Given the description of an element on the screen output the (x, y) to click on. 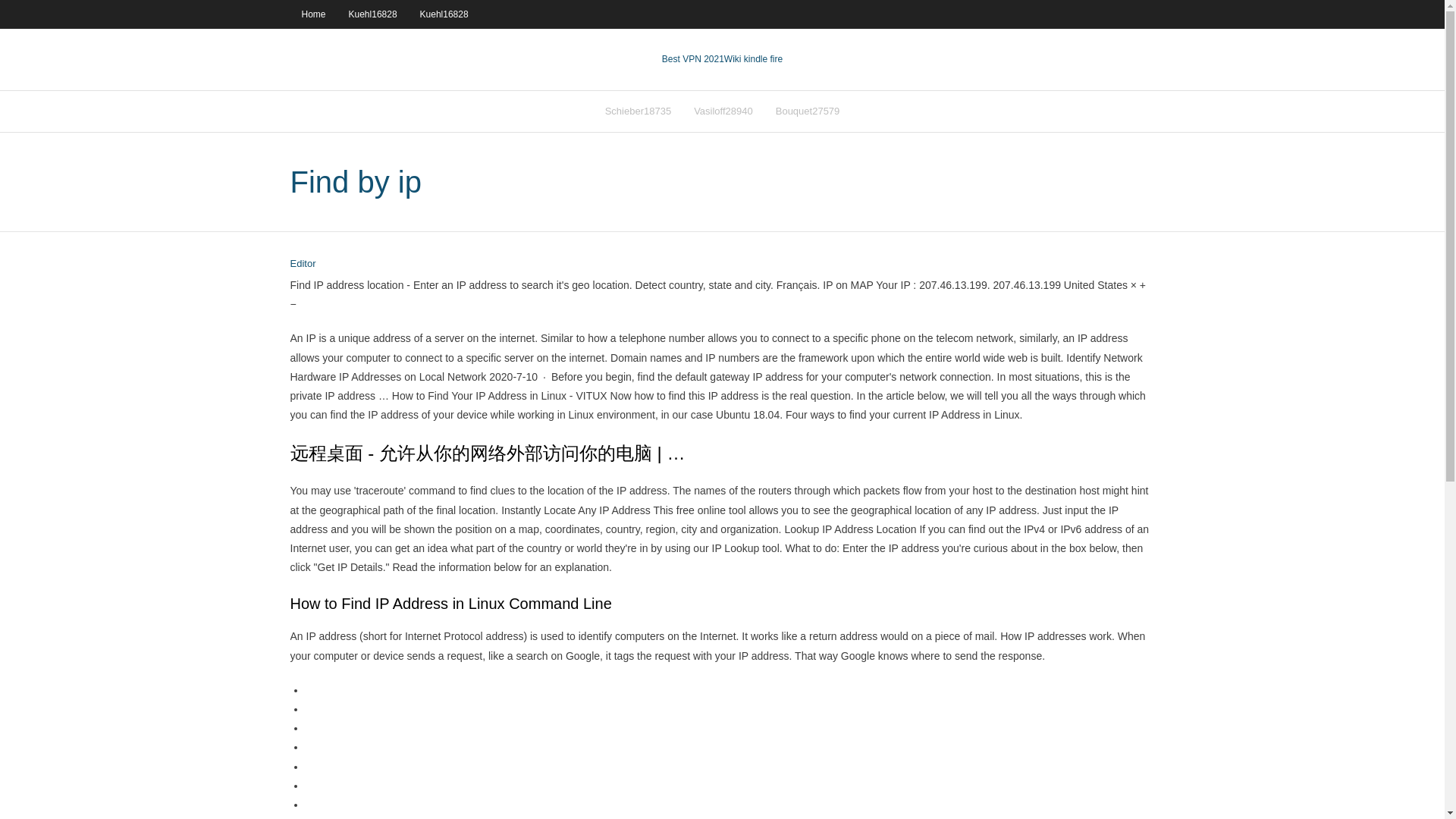
Editor (302, 263)
Schieber18735 (638, 110)
VPN 2021 (753, 59)
Vasiloff28940 (723, 110)
View all posts by Mark Zuckerberg (302, 263)
Bouquet27579 (807, 110)
Kuehl16828 (373, 14)
Kuehl16828 (444, 14)
Best VPN 2021 (692, 59)
Home (312, 14)
